Given the description of an element on the screen output the (x, y) to click on. 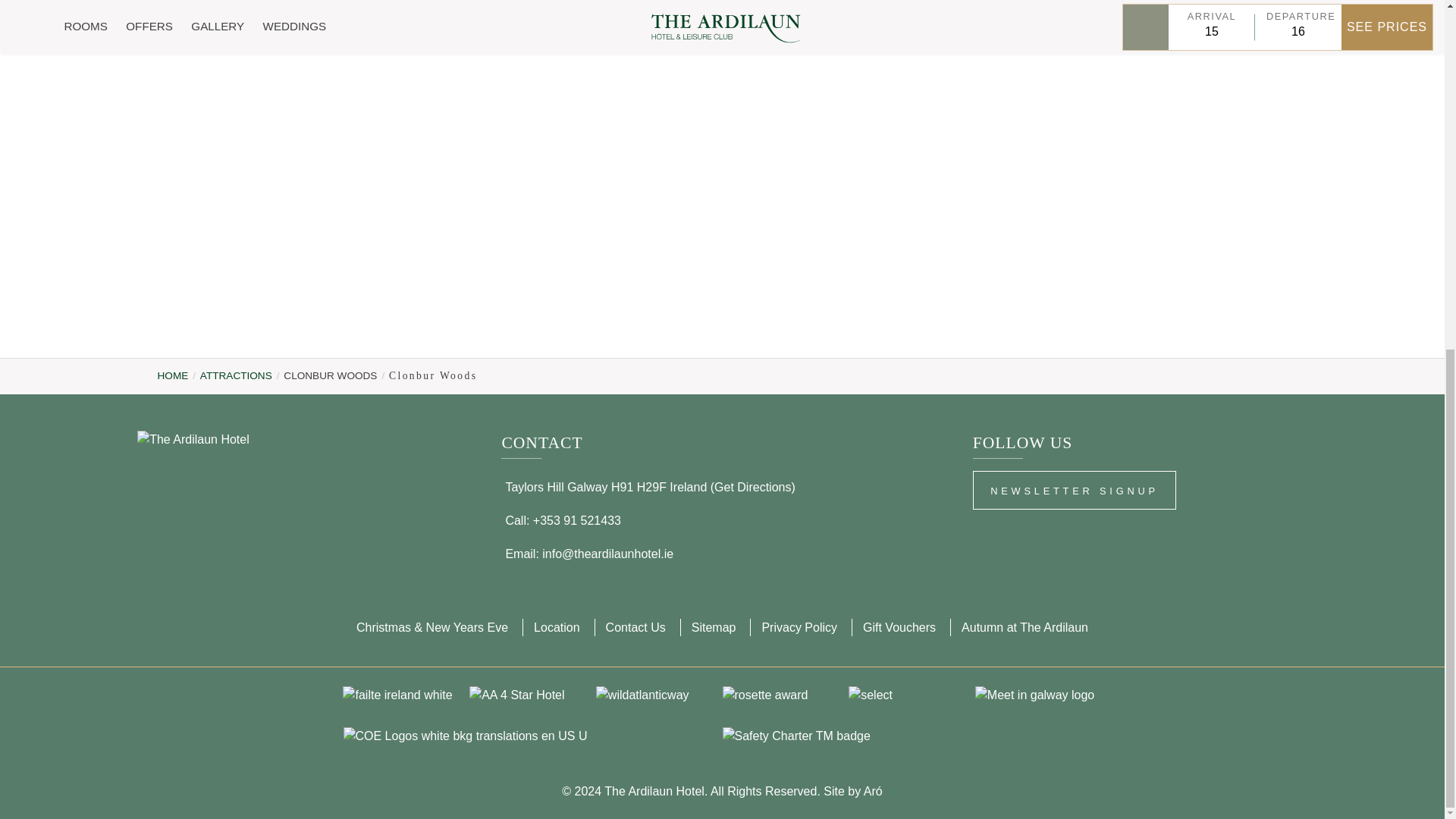
linkedin (1077, 533)
Youtube (1160, 533)
Taylors Hill Galway H91 H29F Ireland (607, 486)
NEWSLETTER SIGNUP (1074, 489)
ATTRACTIONS (236, 375)
Newsletter signup (1074, 489)
Instagram (1035, 533)
Twitter (1118, 533)
HOME (173, 375)
Facebook (993, 533)
